Given the description of an element on the screen output the (x, y) to click on. 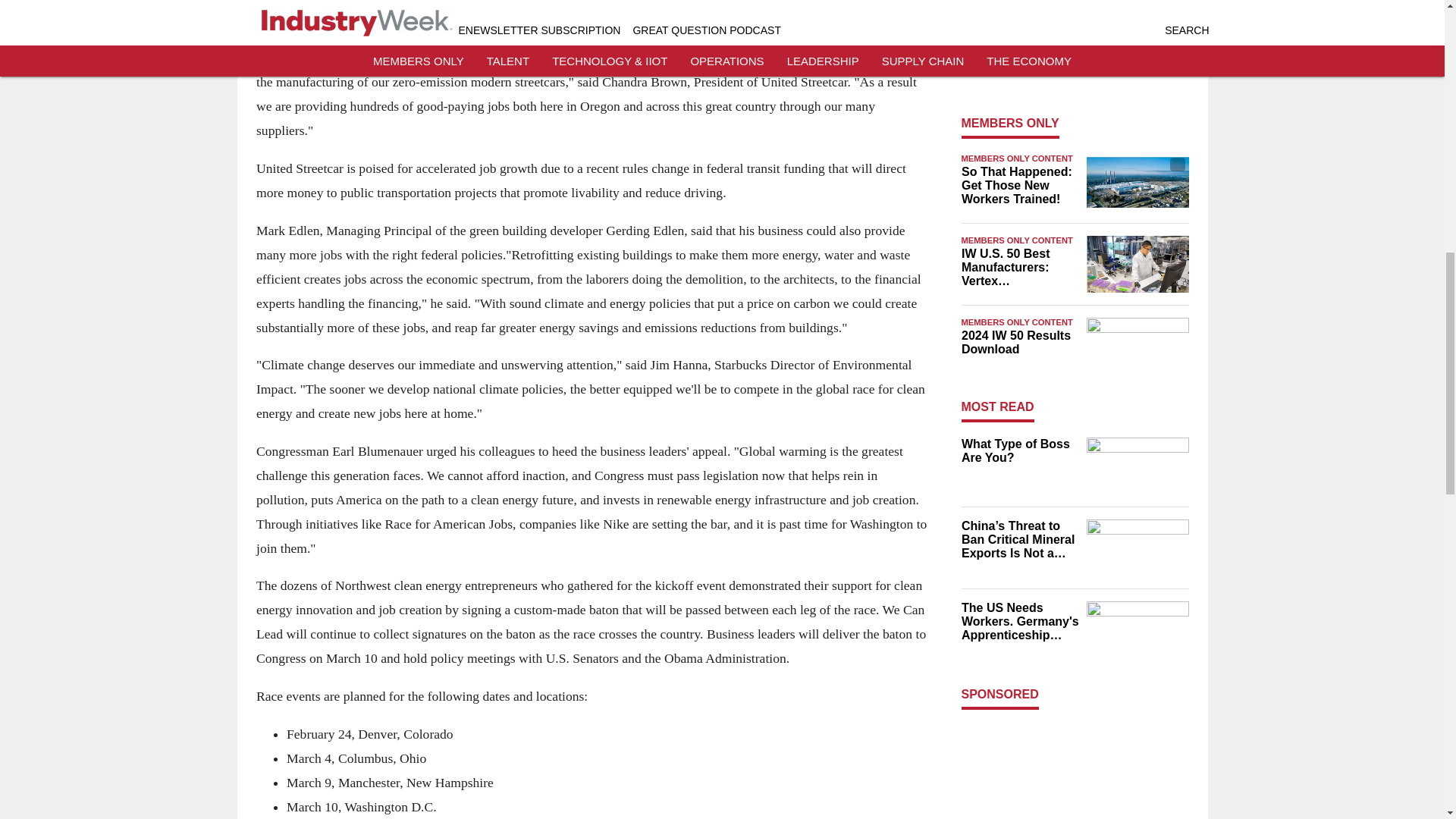
So That Happened: Get Those New Workers Trained! (1019, 185)
MEMBERS ONLY (1009, 123)
